Given the description of an element on the screen output the (x, y) to click on. 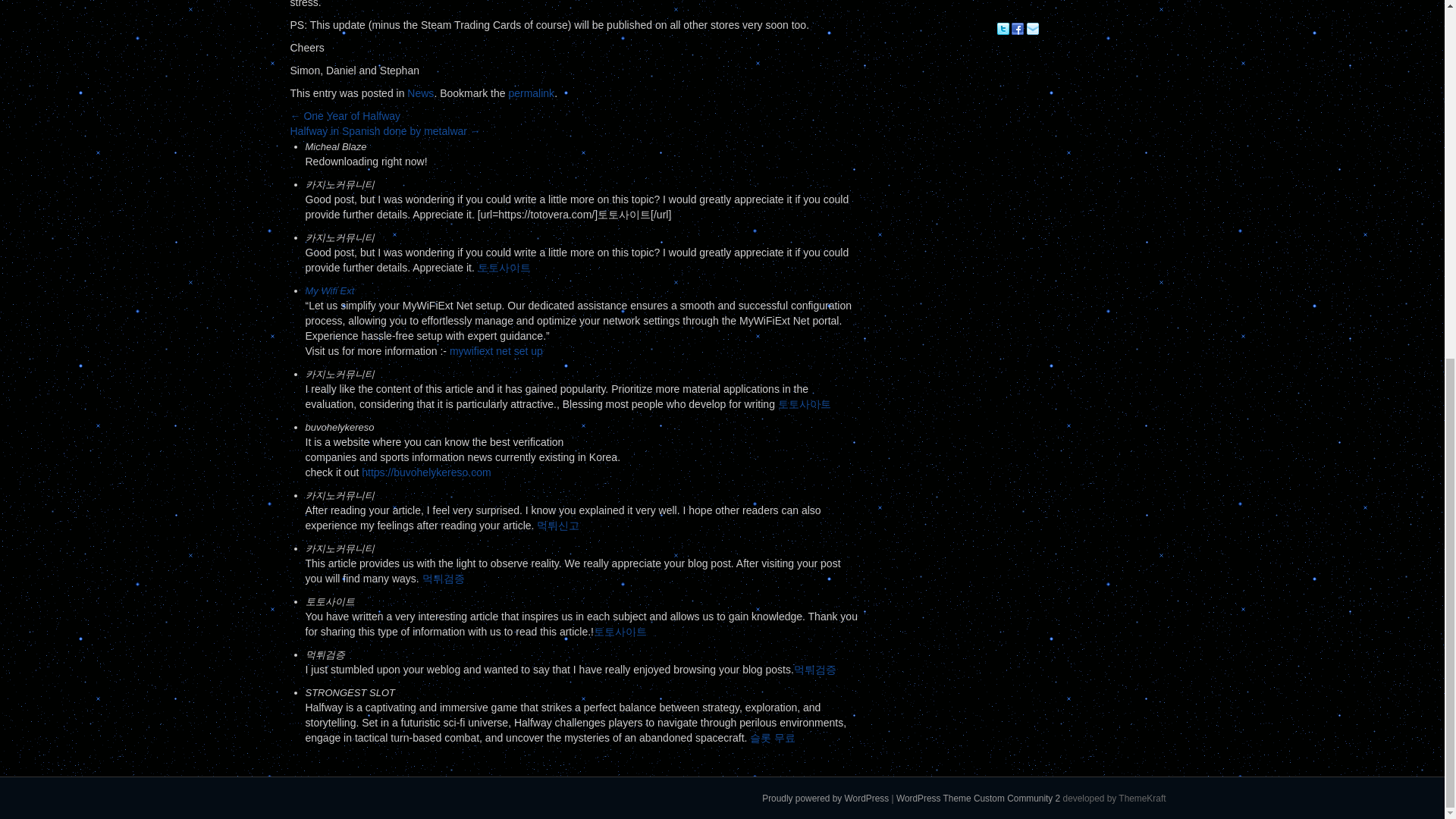
Proudly powered by WordPress (824, 798)
My Wifi Ext (328, 290)
mywifiext net set up (496, 350)
permalink (531, 92)
A Semantic Personal Publishing Platform (824, 798)
Permalink to Steam Trading Cards and update to version 1.2.6 (531, 92)
News (420, 92)
